Given the description of an element on the screen output the (x, y) to click on. 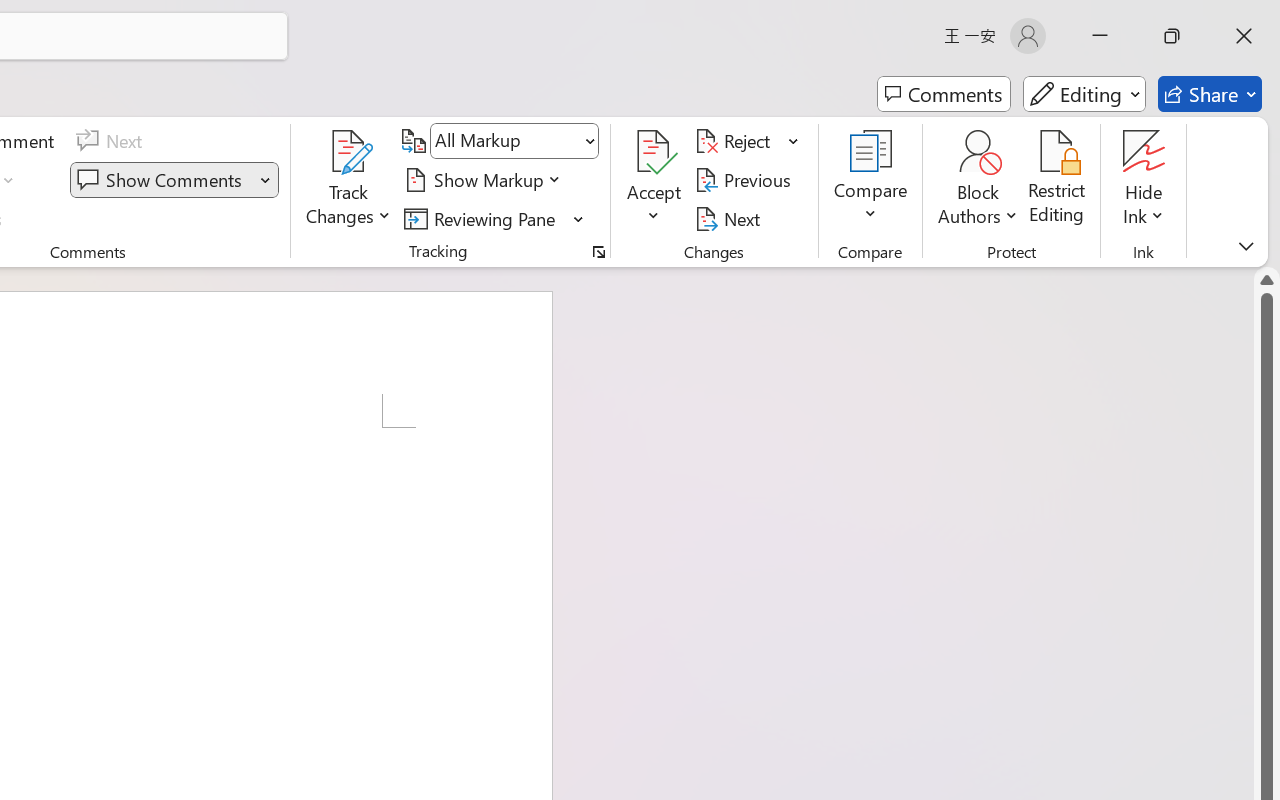
Hide Ink (1144, 179)
Show Comments (174, 179)
Hide Ink (1144, 151)
Block Authors (977, 179)
Accept and Move to Next (653, 151)
Show Comments (162, 179)
Reject (747, 141)
Restrict Editing (1057, 179)
Compare (870, 179)
